Given the description of an element on the screen output the (x, y) to click on. 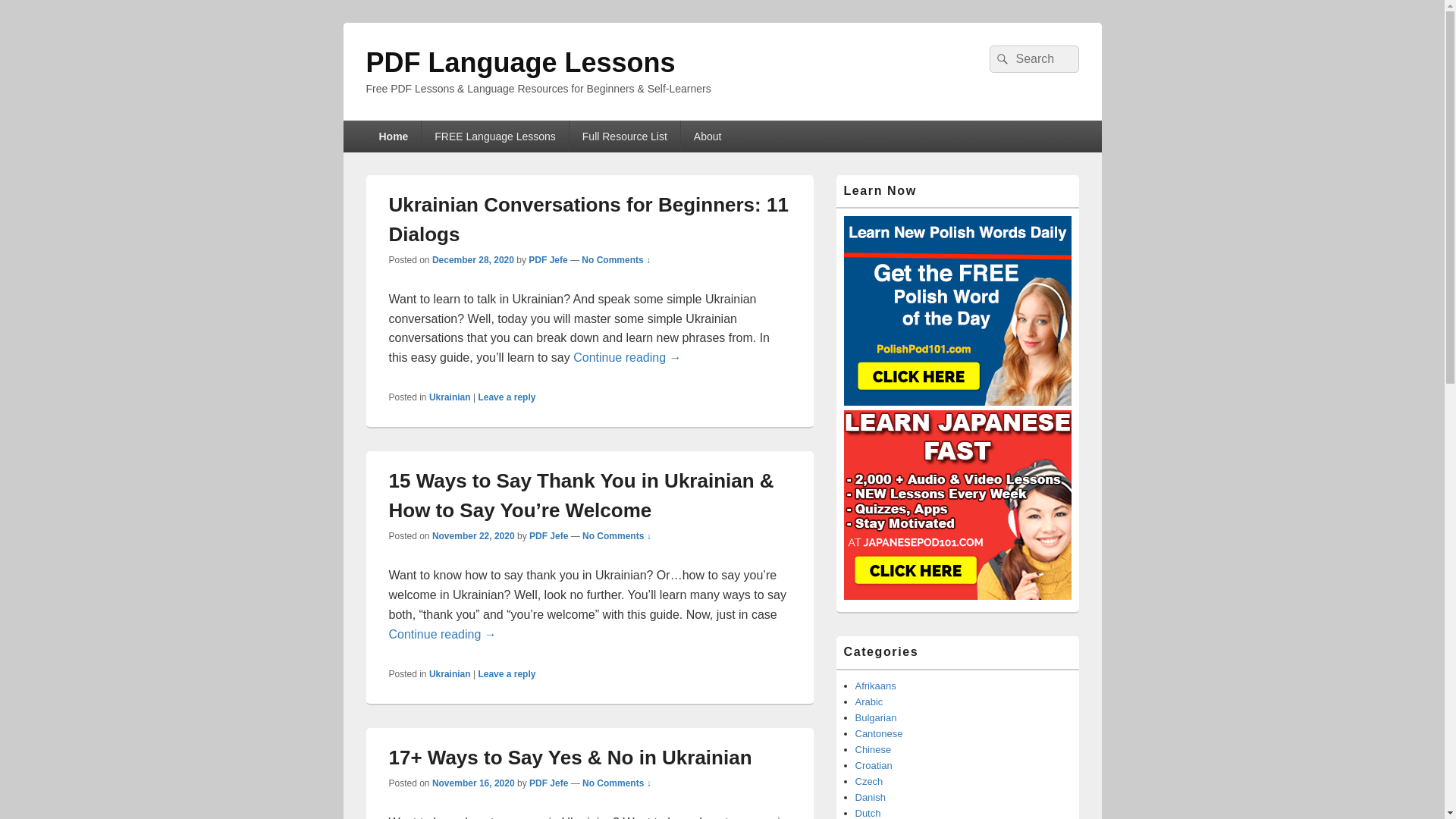
View all posts by PDF Jefe (548, 535)
3:19 pm (473, 783)
Full Resource List (624, 136)
FREE Language Lessons (495, 136)
Leave a reply (506, 397)
November 16, 2020 (473, 783)
Leave a reply (506, 674)
PDF Jefe (548, 535)
About (708, 136)
PDF Jefe (548, 783)
5:06 pm (473, 535)
PDF Language Lessons (520, 61)
View all posts by PDF Jefe (548, 783)
4:00 pm (472, 259)
